Given the description of an element on the screen output the (x, y) to click on. 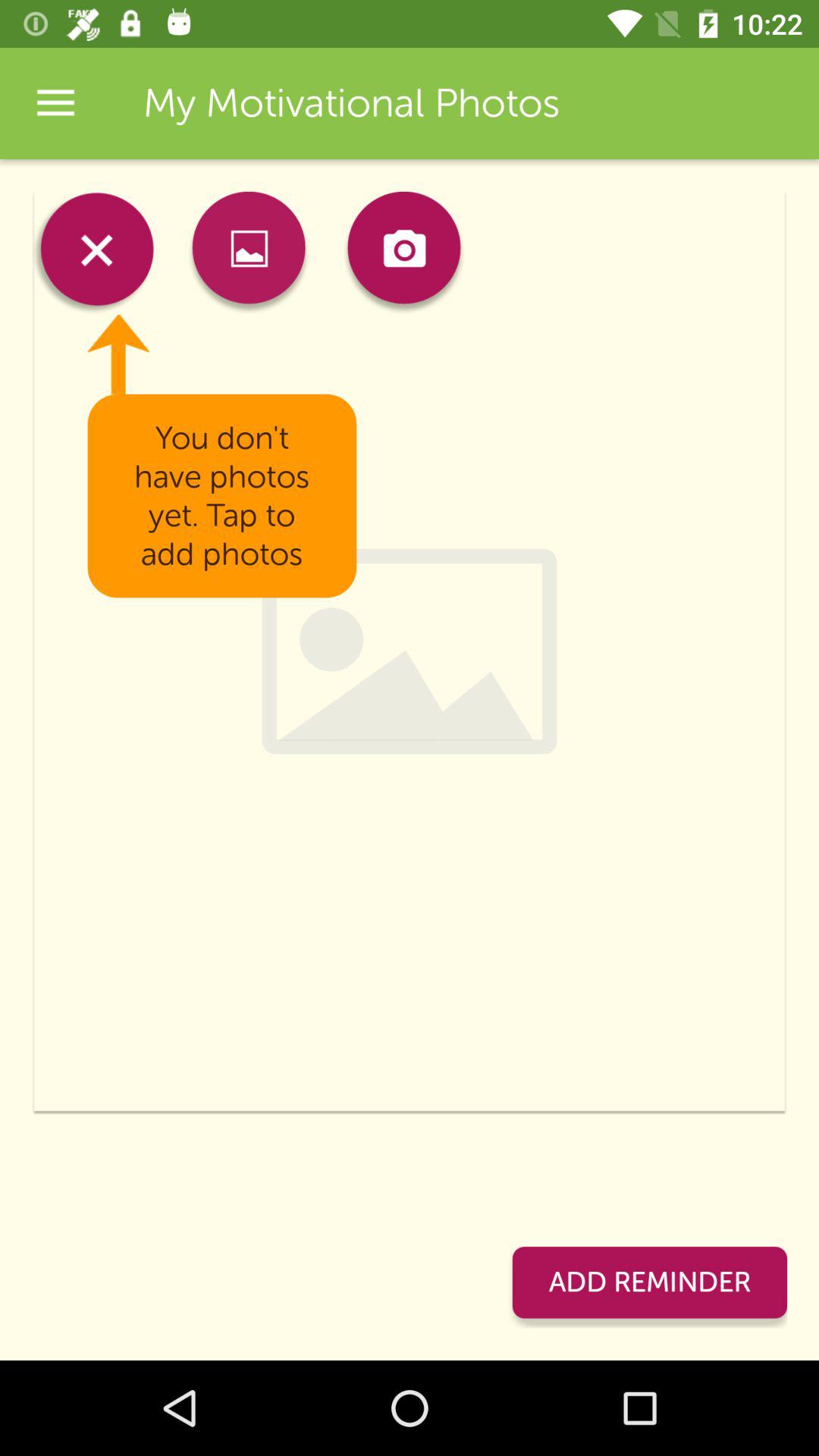
flip to the add reminder icon (649, 1282)
